Given the description of an element on the screen output the (x, y) to click on. 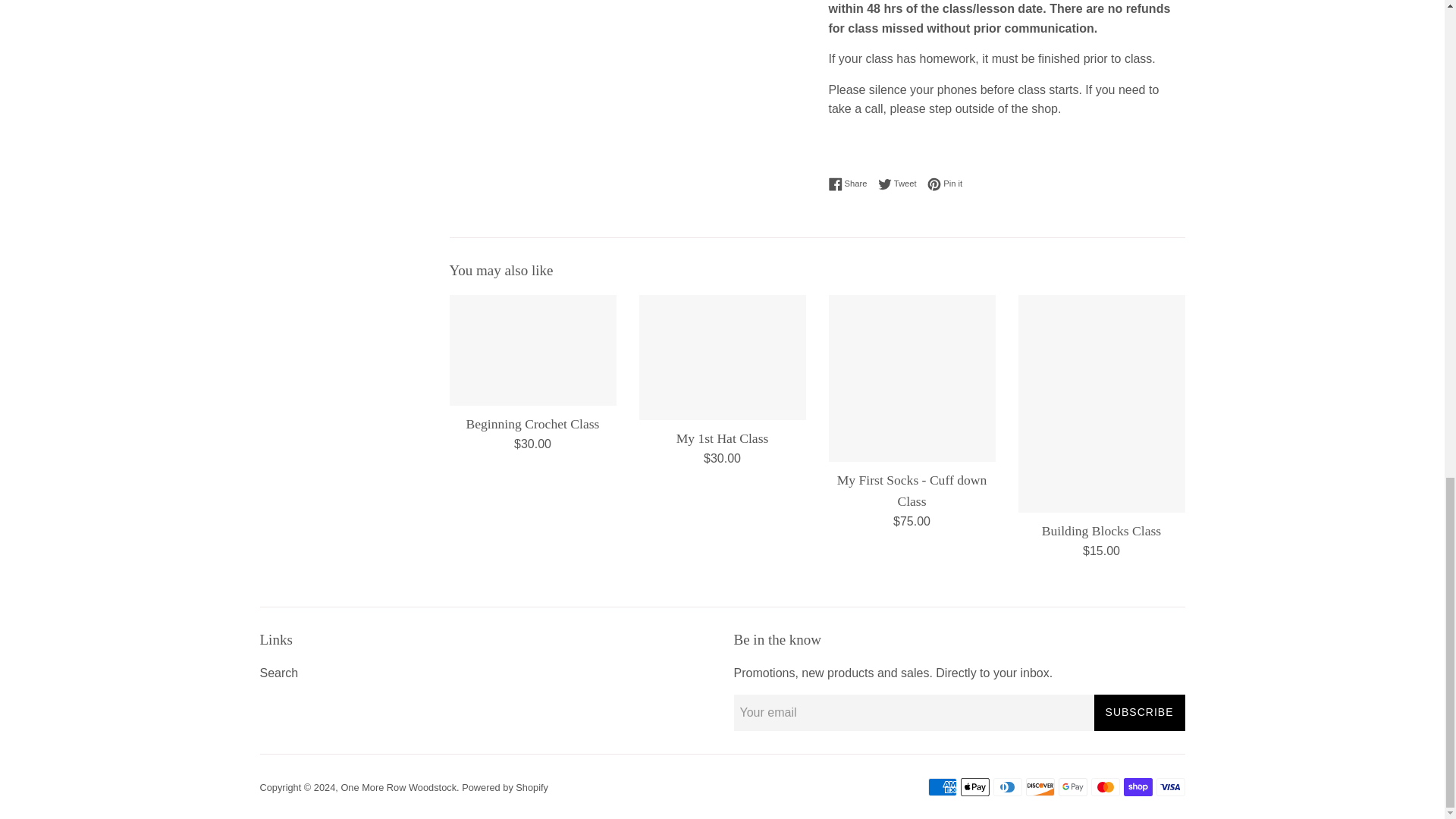
Shop Pay (1138, 787)
Pin on Pinterest (944, 183)
Discover (1039, 787)
My First Socks - Cuff down Class (911, 377)
My 1st Hat Class (722, 357)
American Express (942, 787)
Diners Club (1007, 787)
Tweet on Twitter (900, 183)
Beginning Crochet Class (531, 350)
Visa (1170, 787)
